Given the description of an element on the screen output the (x, y) to click on. 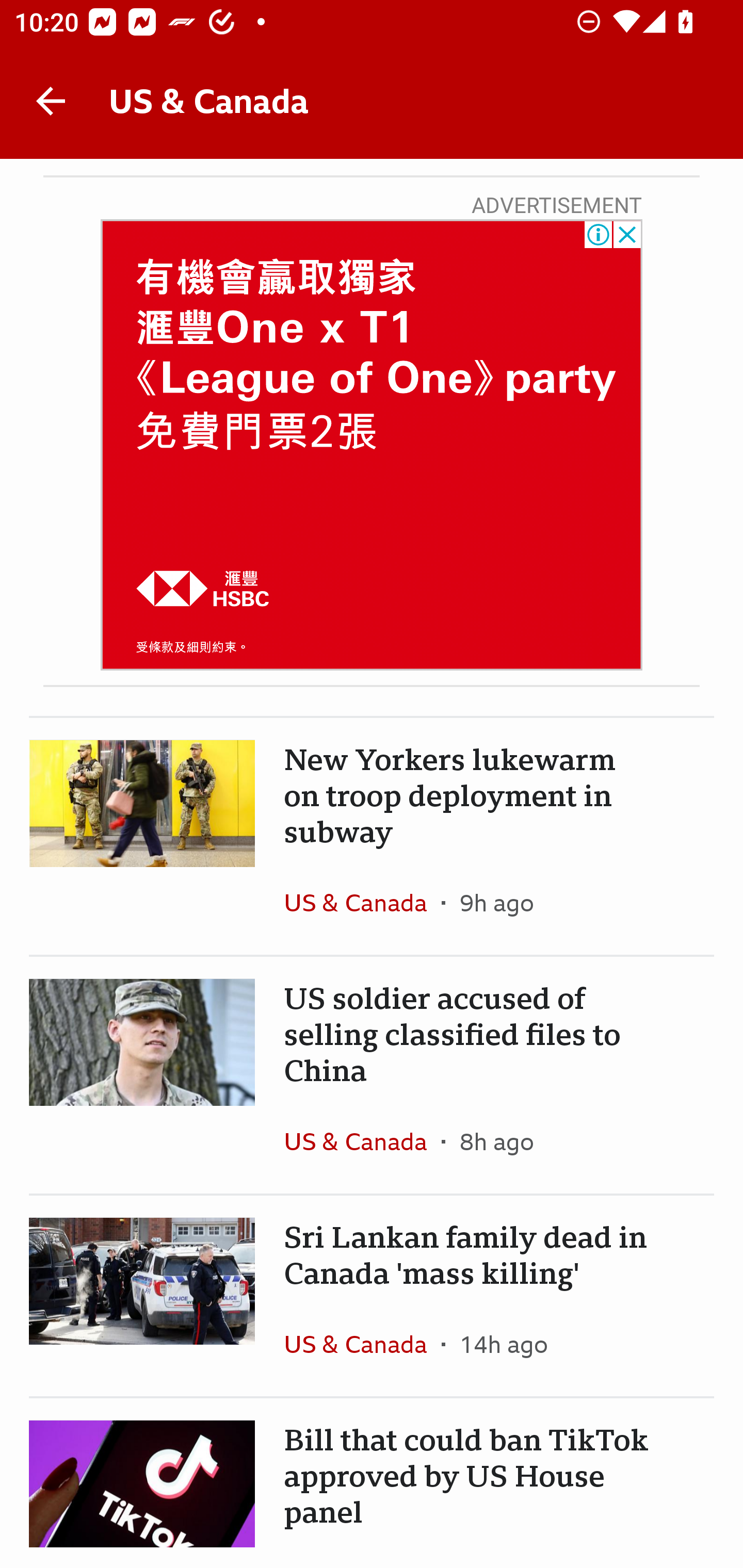
Back (50, 101)
HSBC javascript:window.open(window (371, 445)
US & Canada In the section US & Canada (362, 901)
US & Canada In the section US & Canada (362, 1141)
US & Canada In the section US & Canada (362, 1343)
